Given the description of an element on the screen output the (x, y) to click on. 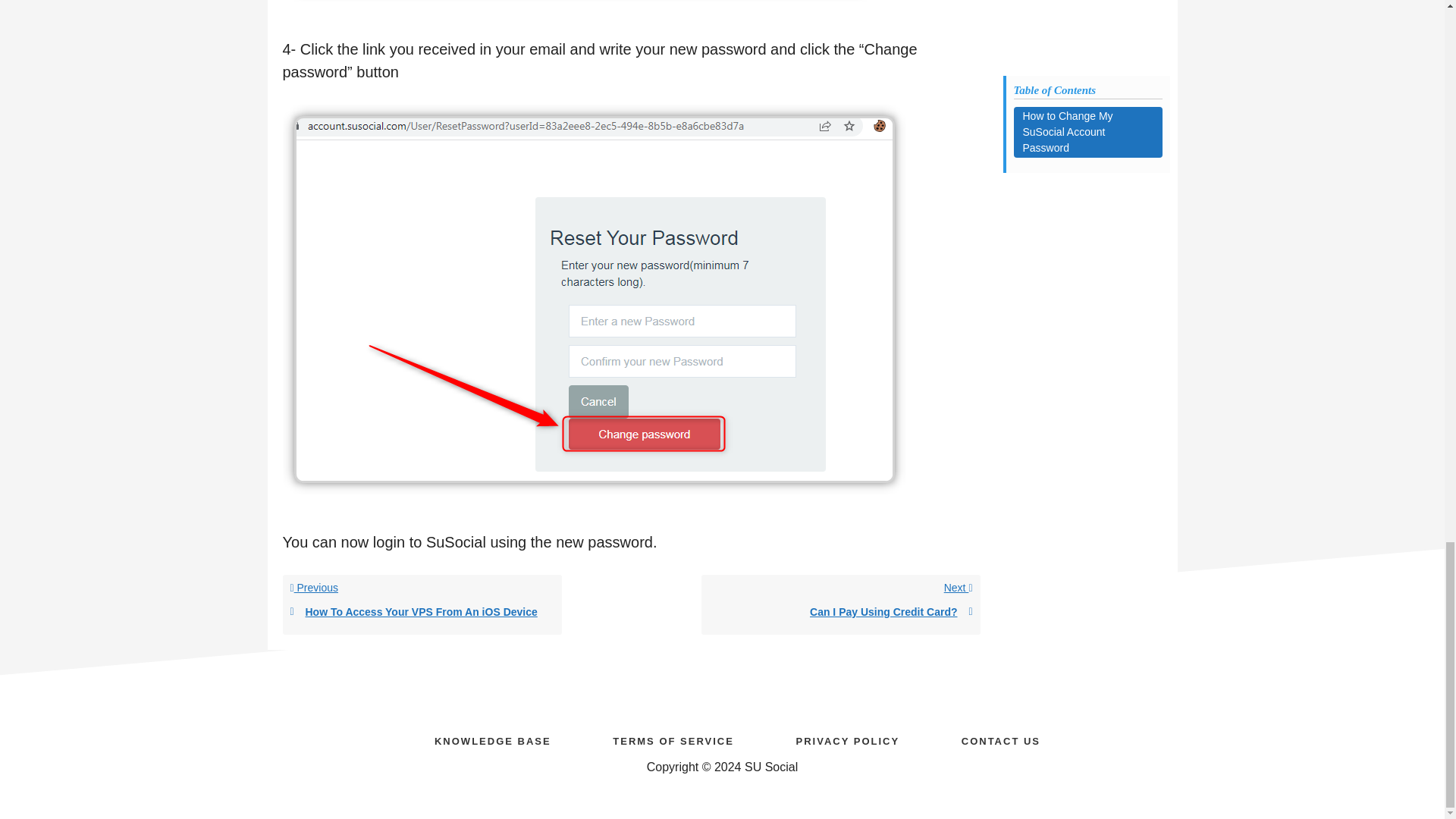
How To Access Your VPS From An iOS Device (421, 612)
KNOWLEDGE BASE (492, 739)
PRIVACY POLICY (848, 739)
TERMS OF SERVICE (673, 739)
CONTACT US (839, 604)
Can I Pay Using Credit Card? (1000, 739)
